Given the description of an element on the screen output the (x, y) to click on. 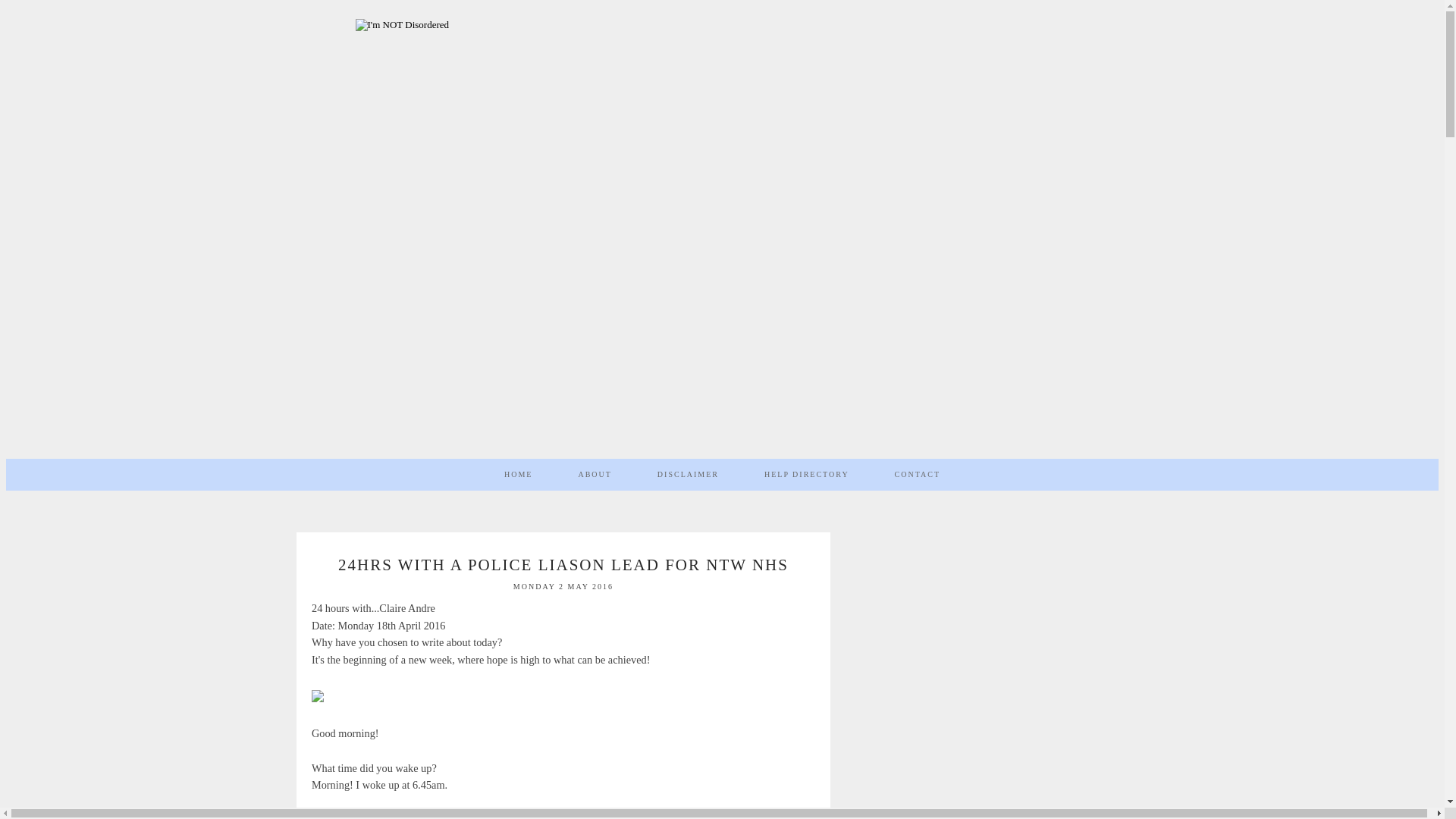
ABOUT (593, 474)
HOME (517, 474)
HELP DIRECTORY (806, 474)
CONTACT (917, 474)
DISCLAIMER (687, 474)
